Given the description of an element on the screen output the (x, y) to click on. 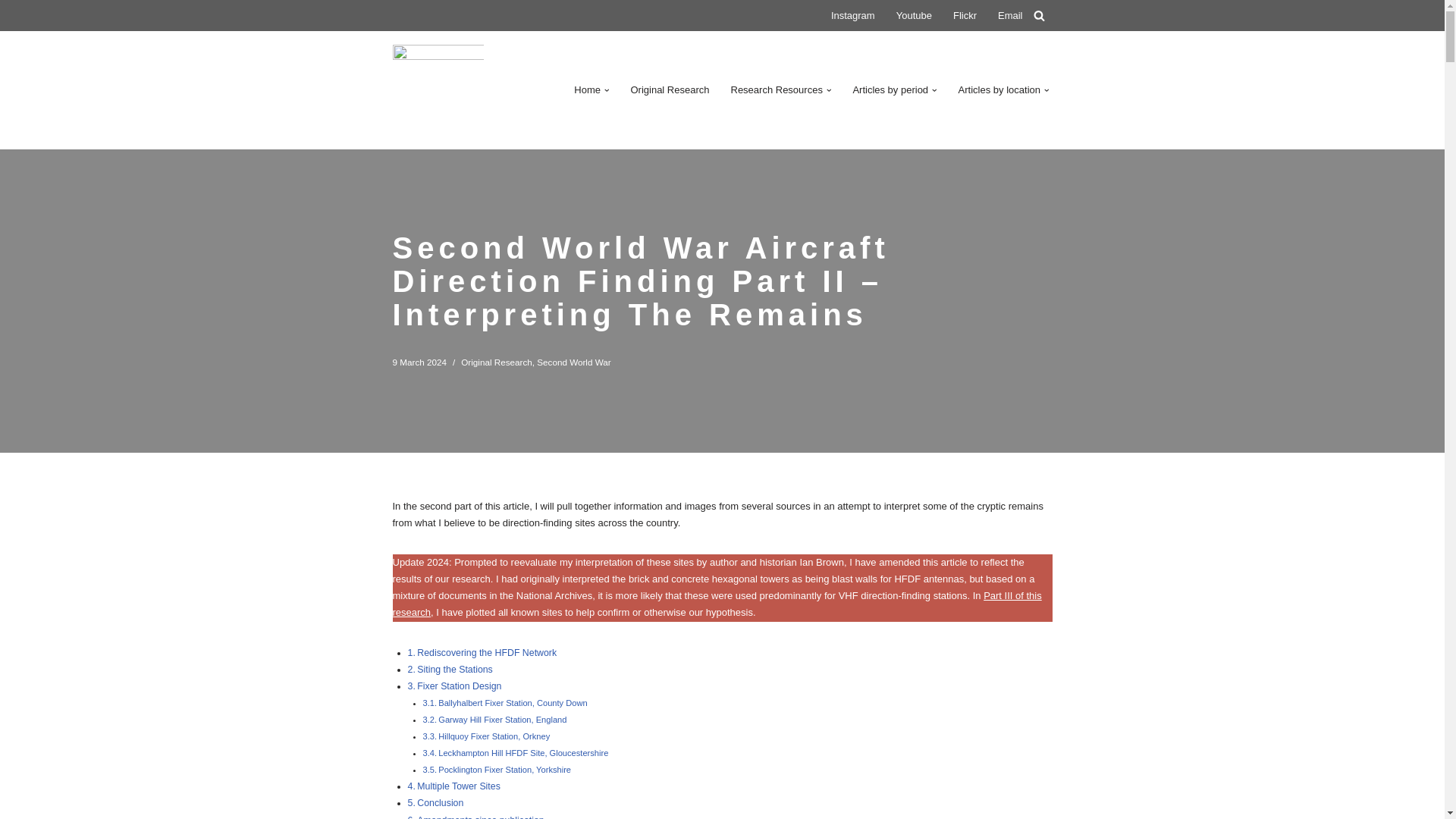
Garway Hill Fixer Station, England (502, 718)
Amendments since publication (479, 816)
Email (1010, 15)
Skip to content (11, 31)
Conclusion (439, 802)
Home (586, 89)
Youtube (913, 15)
Instagram (853, 15)
Siting the Stations (454, 669)
Fixer Station Design (458, 685)
Original Research (669, 89)
Pocklington Fixer Station, Yorkshire (504, 768)
Ballyhalbert Fixer Station, County Down (512, 702)
Multiple Tower Sites (458, 786)
Articles by period (889, 89)
